Given the description of an element on the screen output the (x, y) to click on. 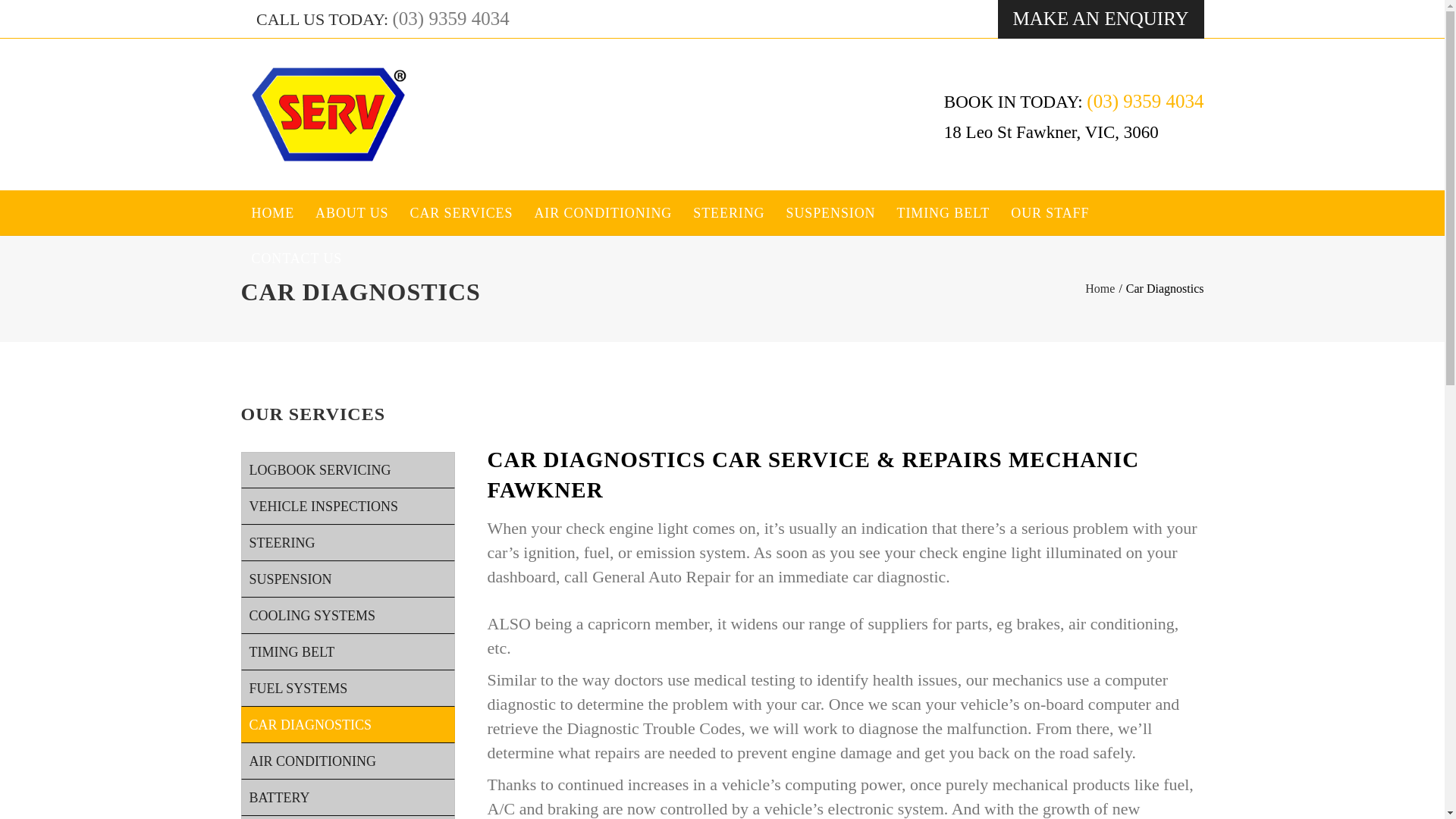
OUR STAFF (1049, 212)
LOGBOOK SERVICING (347, 470)
Timing Belt (943, 212)
COOLING SYSTEMS (347, 615)
TIMING BELT (347, 651)
ABOUT US (351, 212)
About Us (351, 212)
TIMING BELT (943, 212)
MAKE AN ENQUIRY (1100, 19)
VEHICLE INSPECTIONS (347, 506)
SUSPENSION (829, 212)
Steering (728, 212)
CAR DIAGNOSTICS (347, 724)
Air Conditioning (602, 212)
FUEL SYSTEMS (347, 688)
